Given the description of an element on the screen output the (x, y) to click on. 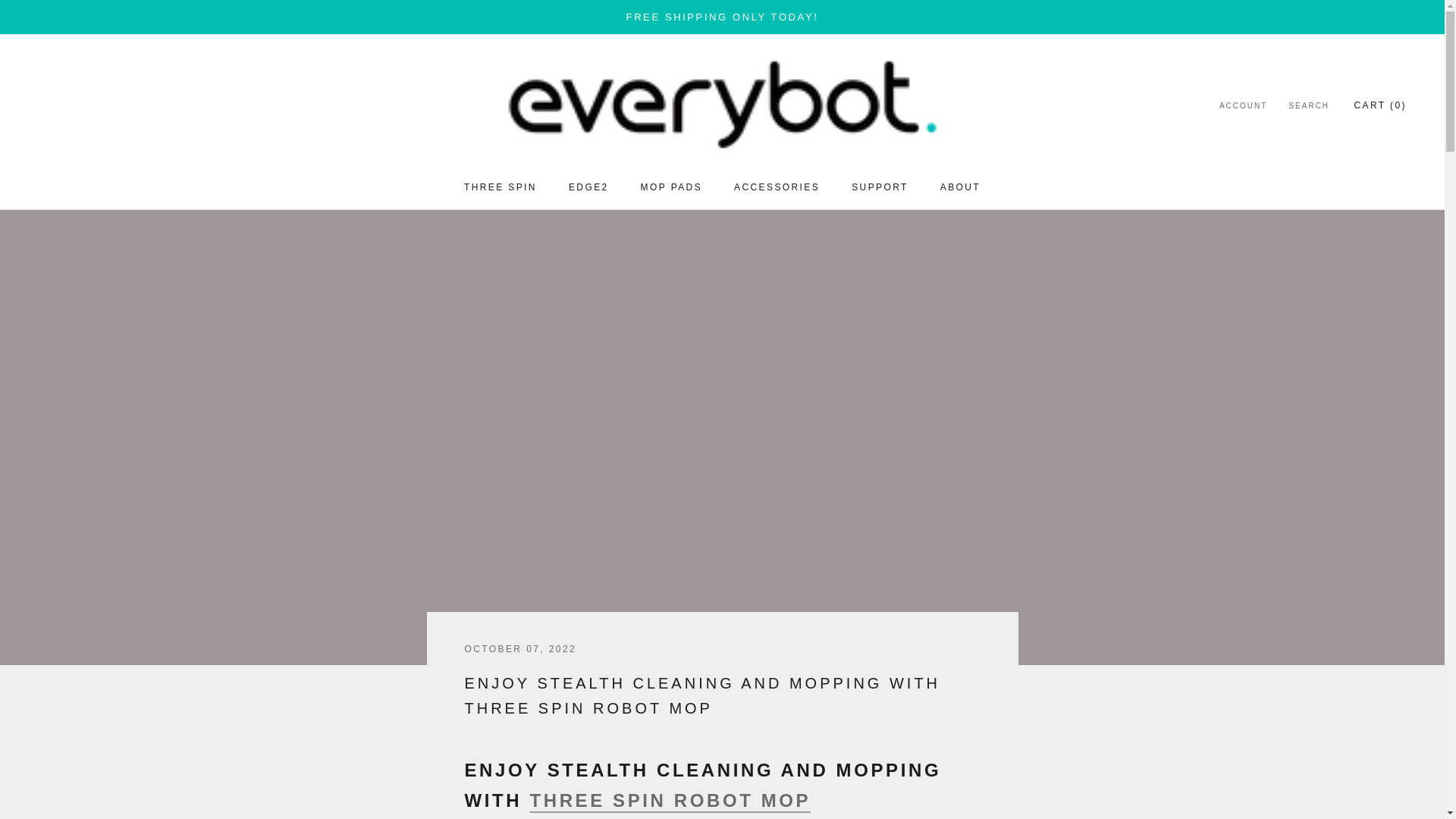
SUPPORT (879, 186)
SEARCH (588, 186)
ABOUT (1308, 106)
ACCOUNT (500, 186)
